Given the description of an element on the screen output the (x, y) to click on. 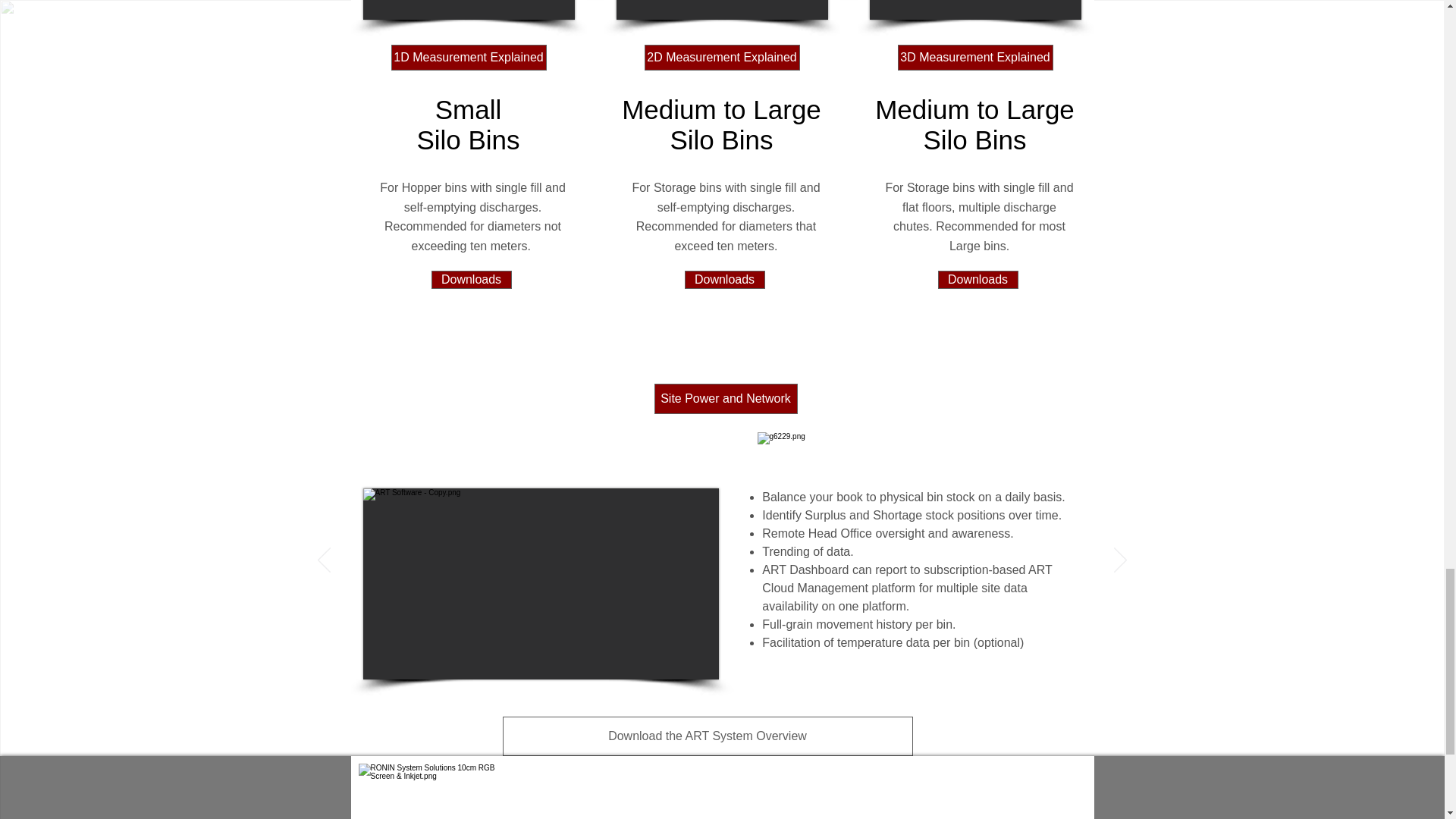
Downloads (759, 794)
1D Measurement Explained (470, 280)
3D Measurement Explained (993, 794)
2D Measurement Explained (469, 57)
Download the ART System Overview (975, 57)
Site Power and Network (722, 57)
Downloads (707, 735)
